Given the description of an element on the screen output the (x, y) to click on. 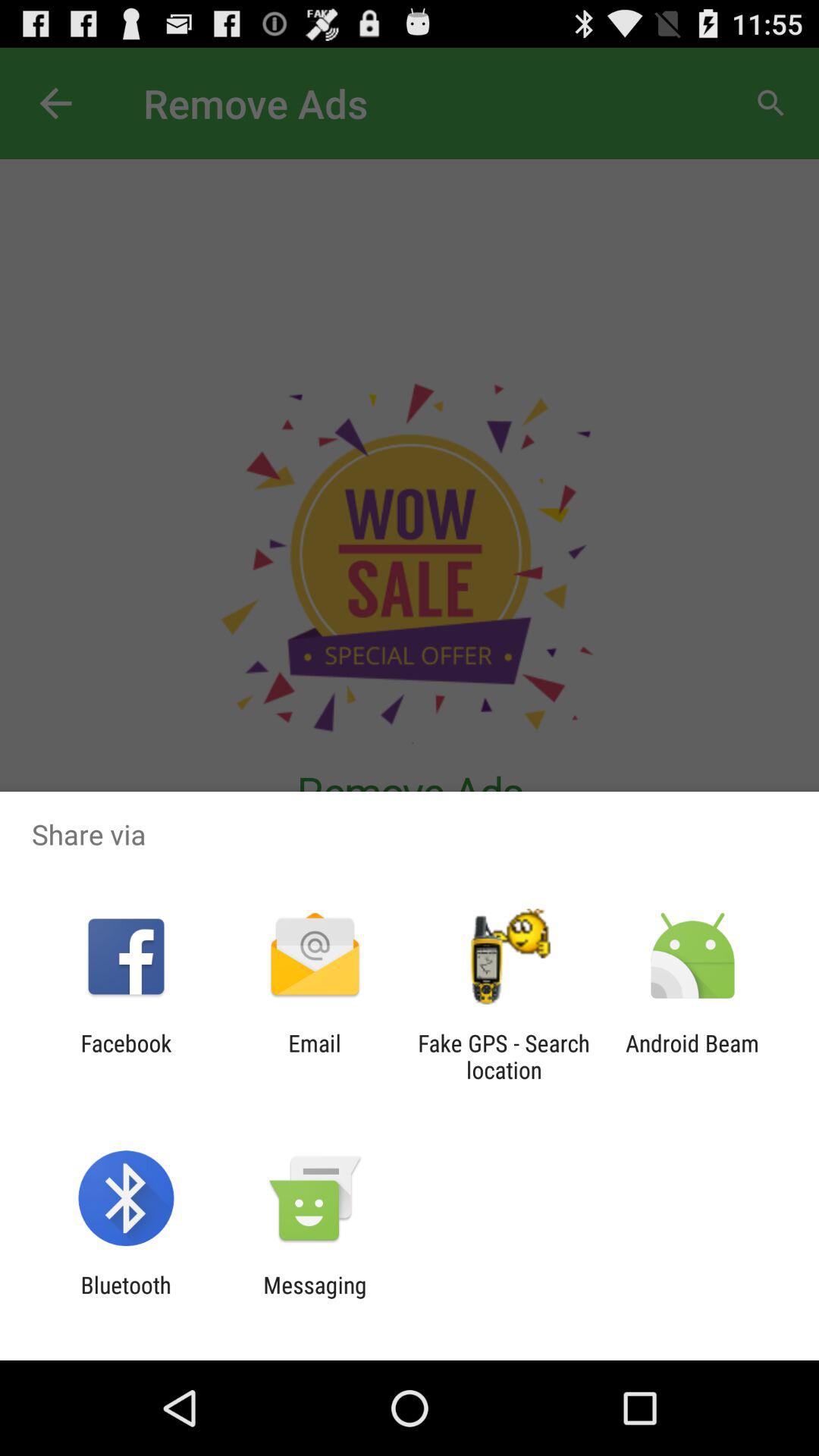
choose the item next to messaging icon (125, 1298)
